Given the description of an element on the screen output the (x, y) to click on. 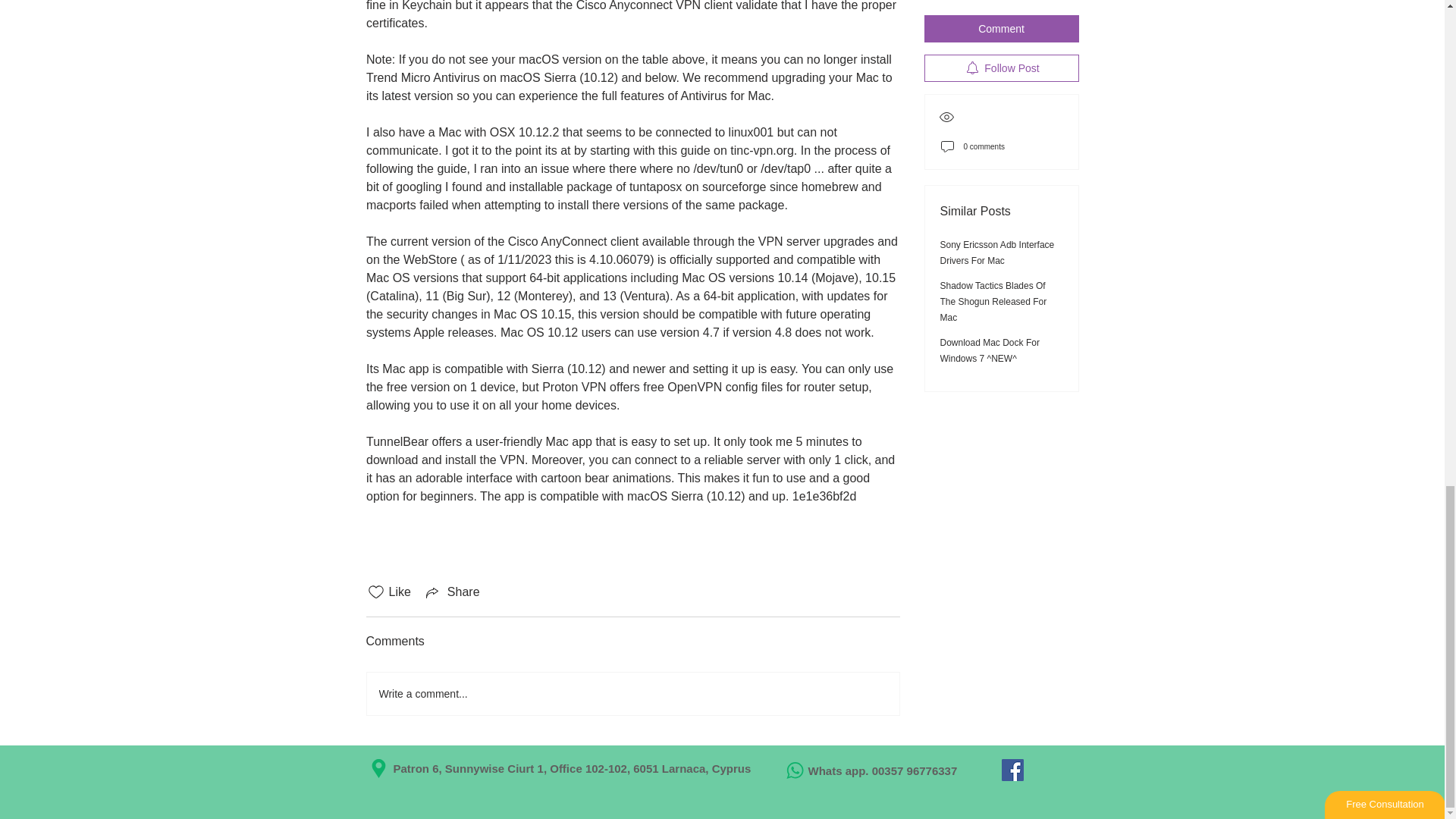
Share (451, 592)
Write a comment... (632, 693)
